Given the description of an element on the screen output the (x, y) to click on. 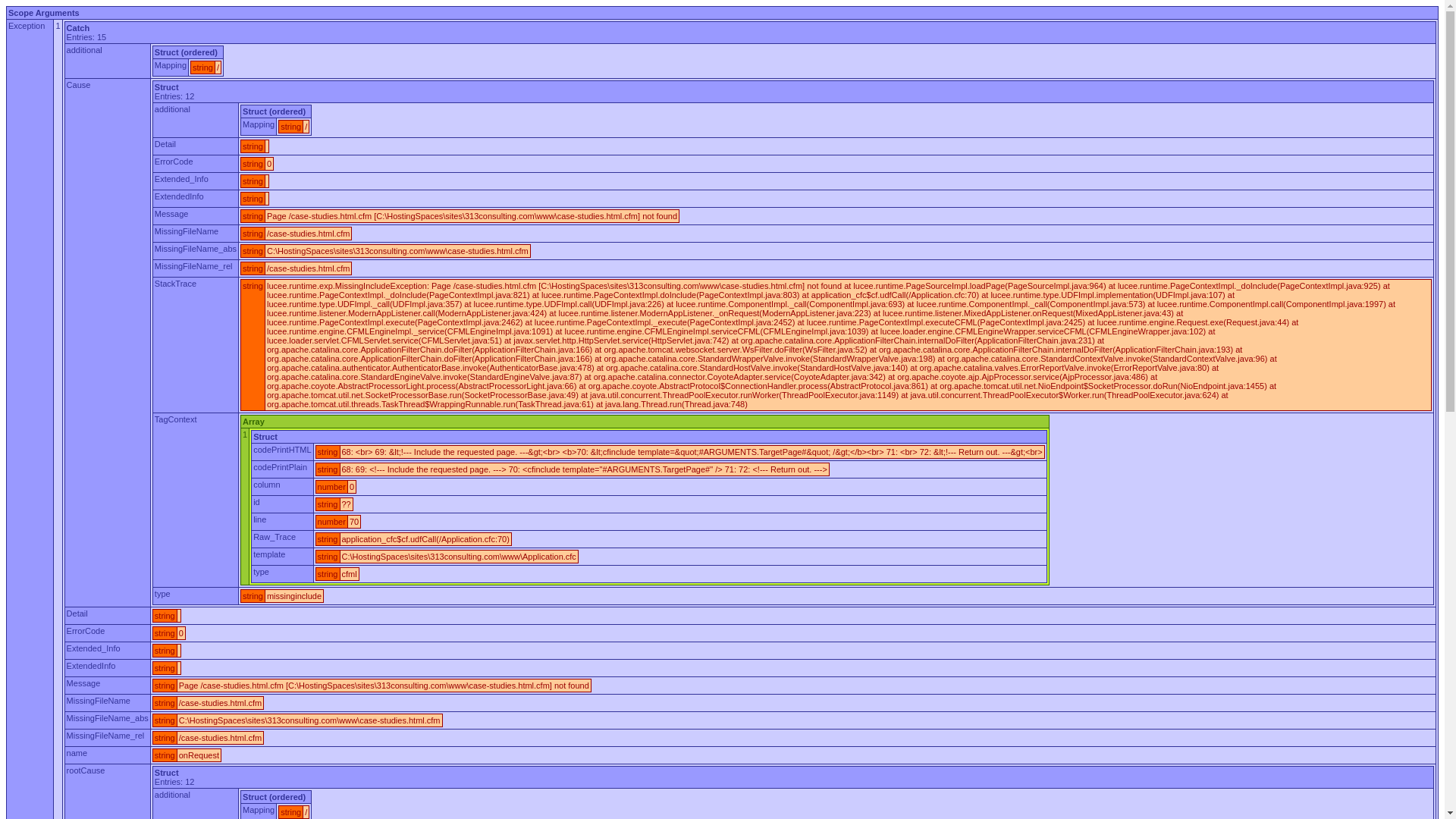
Struct Element type: text (649, 436)
Struct (ordered) Element type: text (187, 51)
Array Element type: text (645, 421)
Struct (ordered) Element type: text (276, 796)
Struct
Entries: 12 Element type: text (792, 776)
Struct (ordered) Element type: text (276, 110)
Struct
Entries: 12 Element type: text (792, 91)
Scope Arguments Element type: text (721, 12)
Catch
Entries: 15 Element type: text (749, 32)
